Given the description of an element on the screen output the (x, y) to click on. 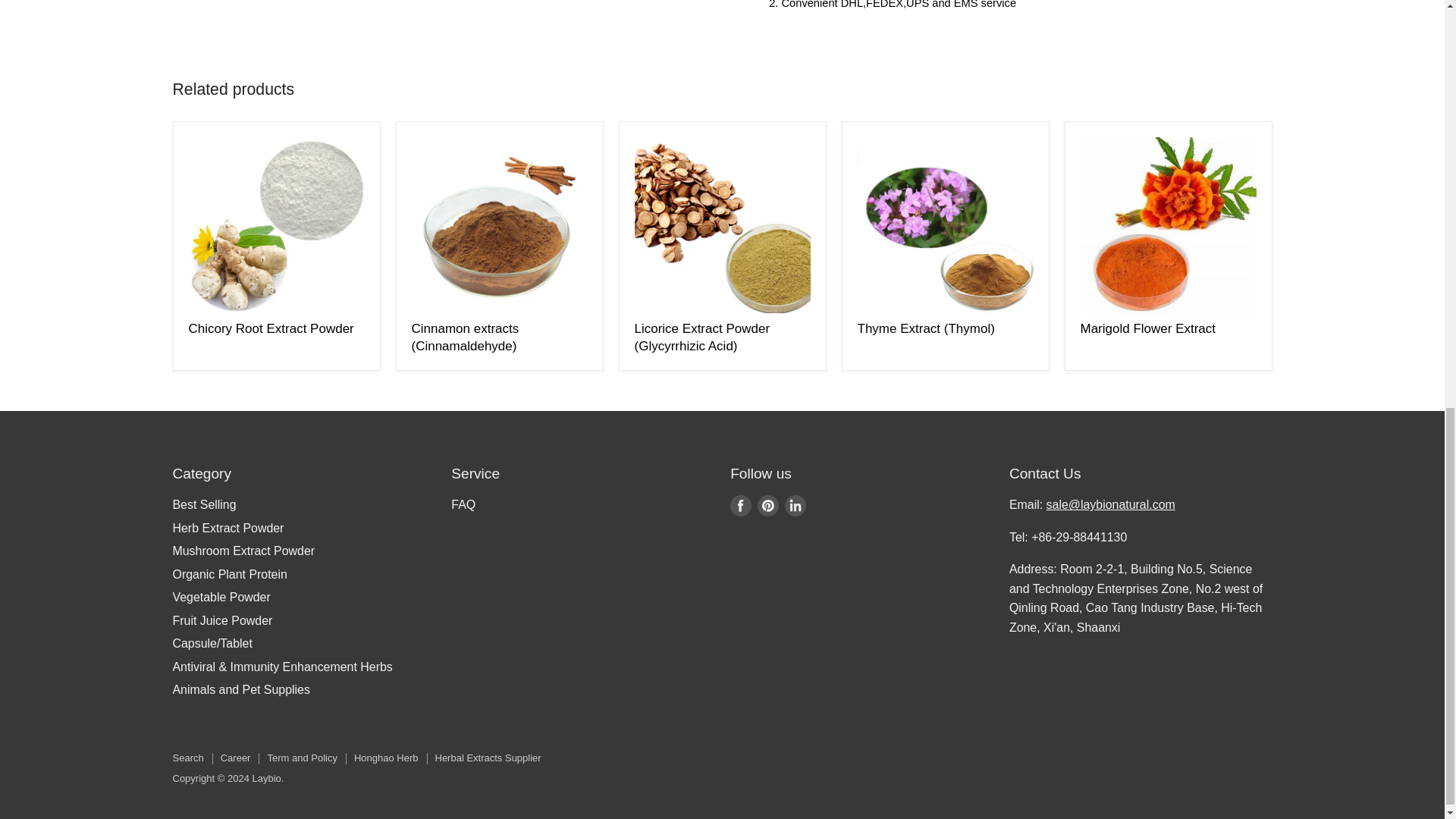
LinkedIn (795, 505)
Pinterest (767, 505)
Facebook (740, 505)
